Given the description of an element on the screen output the (x, y) to click on. 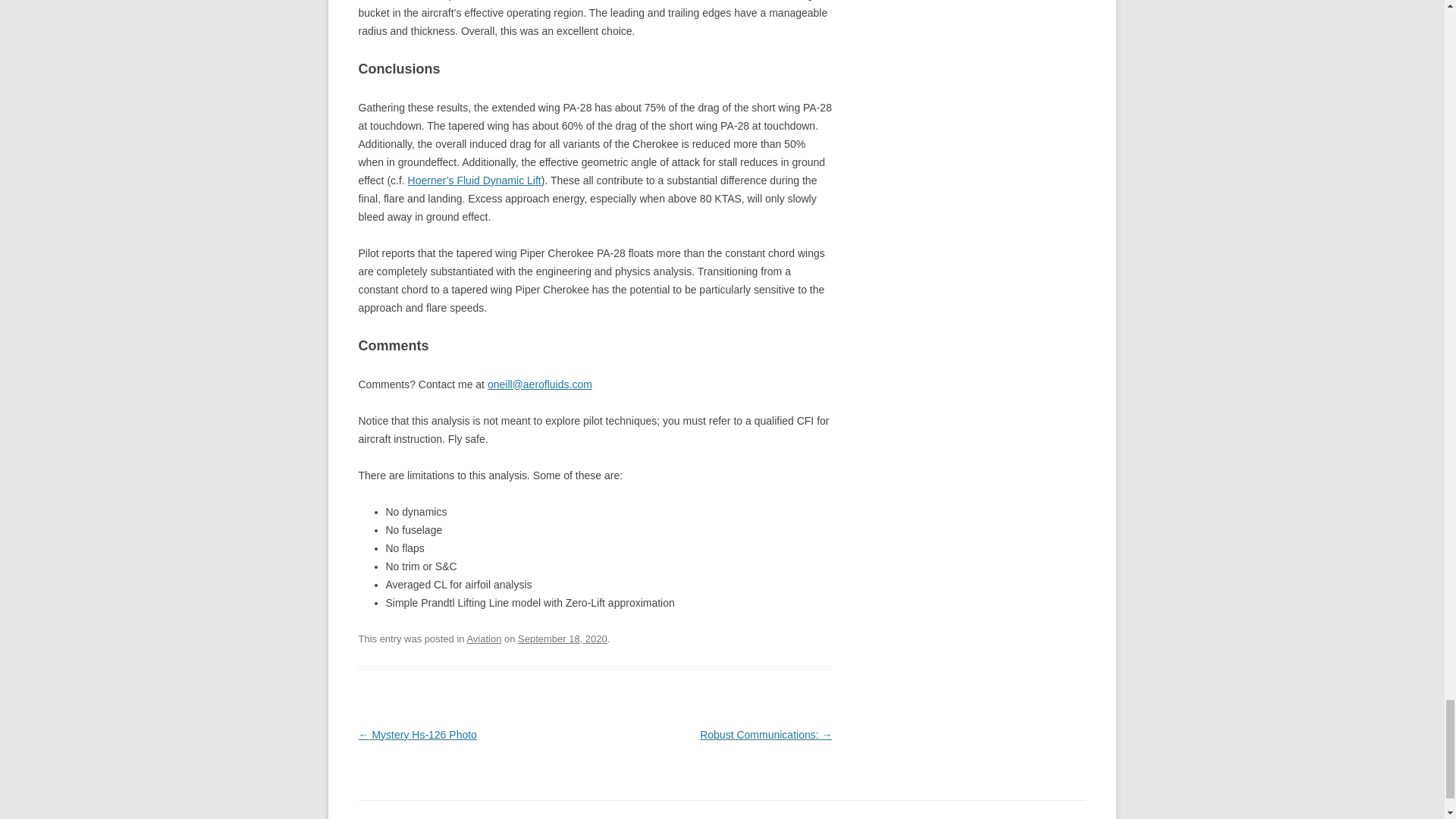
Aviation (482, 638)
September 18, 2020 (562, 638)
9:38 am (562, 638)
